Given the description of an element on the screen output the (x, y) to click on. 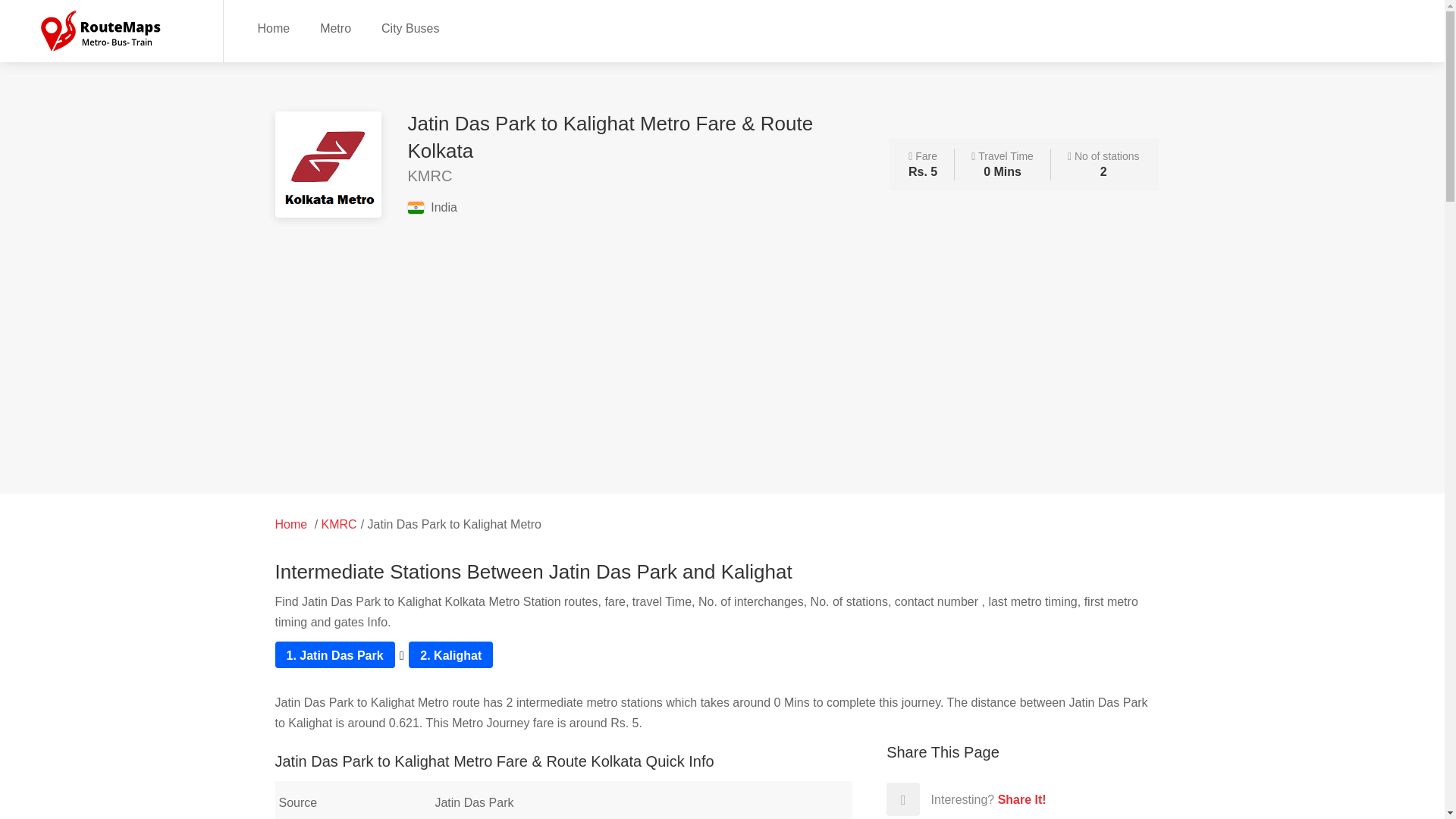
Home (273, 28)
Home (291, 523)
Metro (335, 28)
2. Kalighat (450, 655)
1. Jatin Das Park (335, 655)
KMRC (338, 523)
City Buses (409, 28)
